Given the description of an element on the screen output the (x, y) to click on. 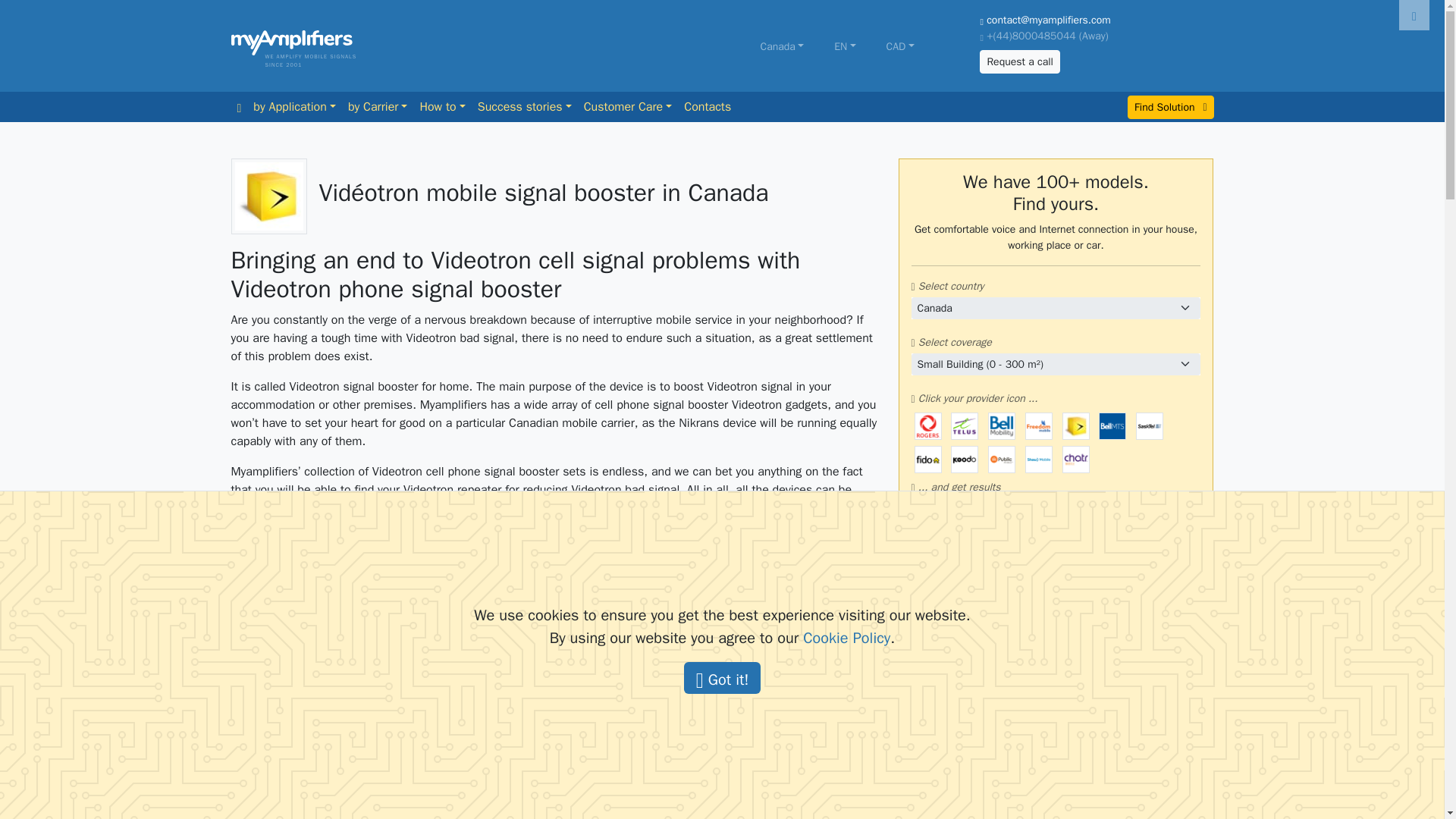
Request a call (1019, 61)
Bell Mobility signal repeaters (1001, 425)
by Carrier (377, 106)
by Application (294, 106)
Rogers Wireless signal repeaters (928, 425)
How to (441, 106)
Select coverage (1056, 363)
CAD (899, 45)
Telus Mobility signal repeaters (964, 425)
Freedom Mobile signal repeaters (1038, 425)
Canada (782, 45)
EN (845, 45)
Select Country (1056, 308)
